Given the description of an element on the screen output the (x, y) to click on. 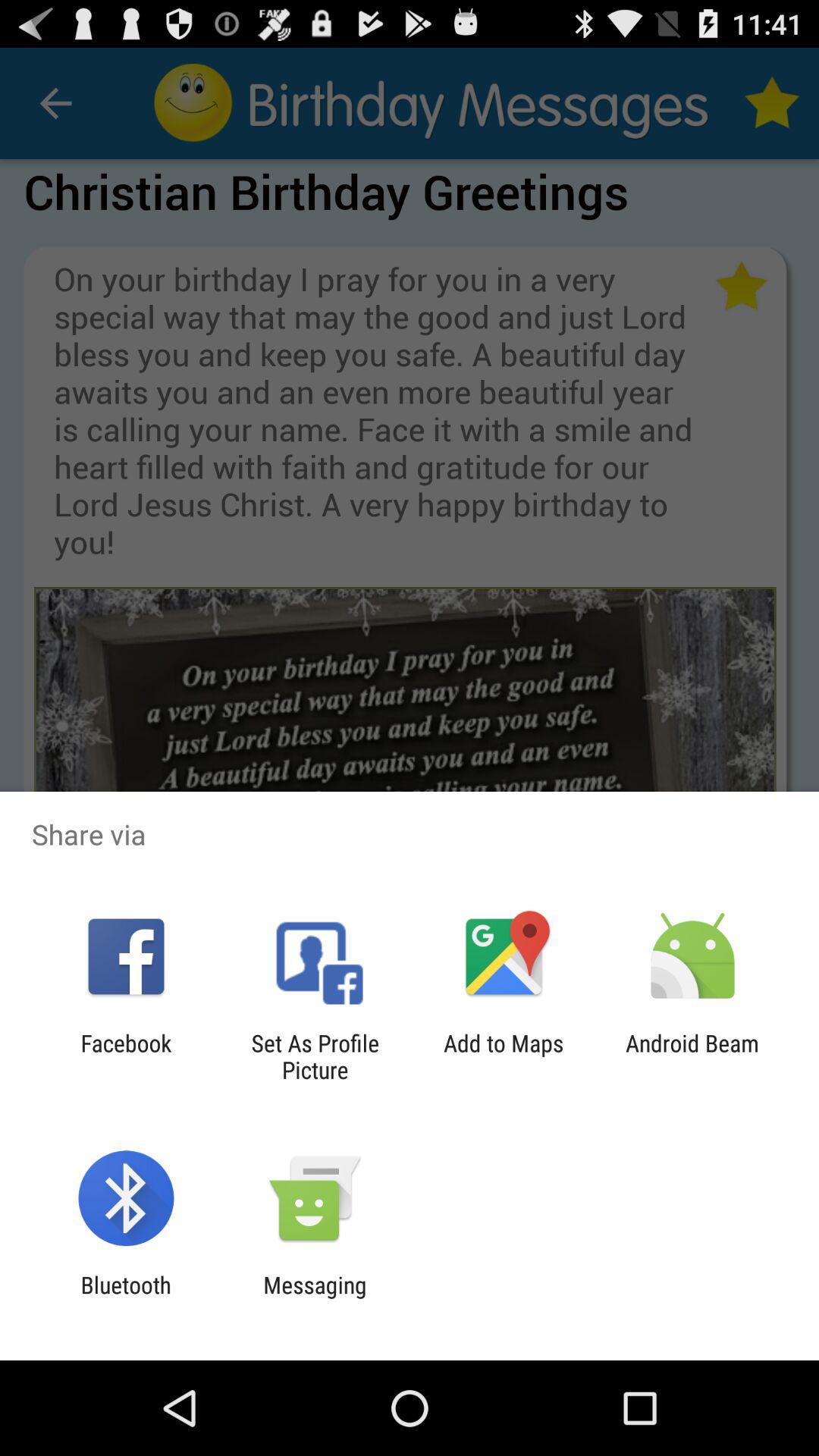
click icon to the left of the messaging app (125, 1298)
